Given the description of an element on the screen output the (x, y) to click on. 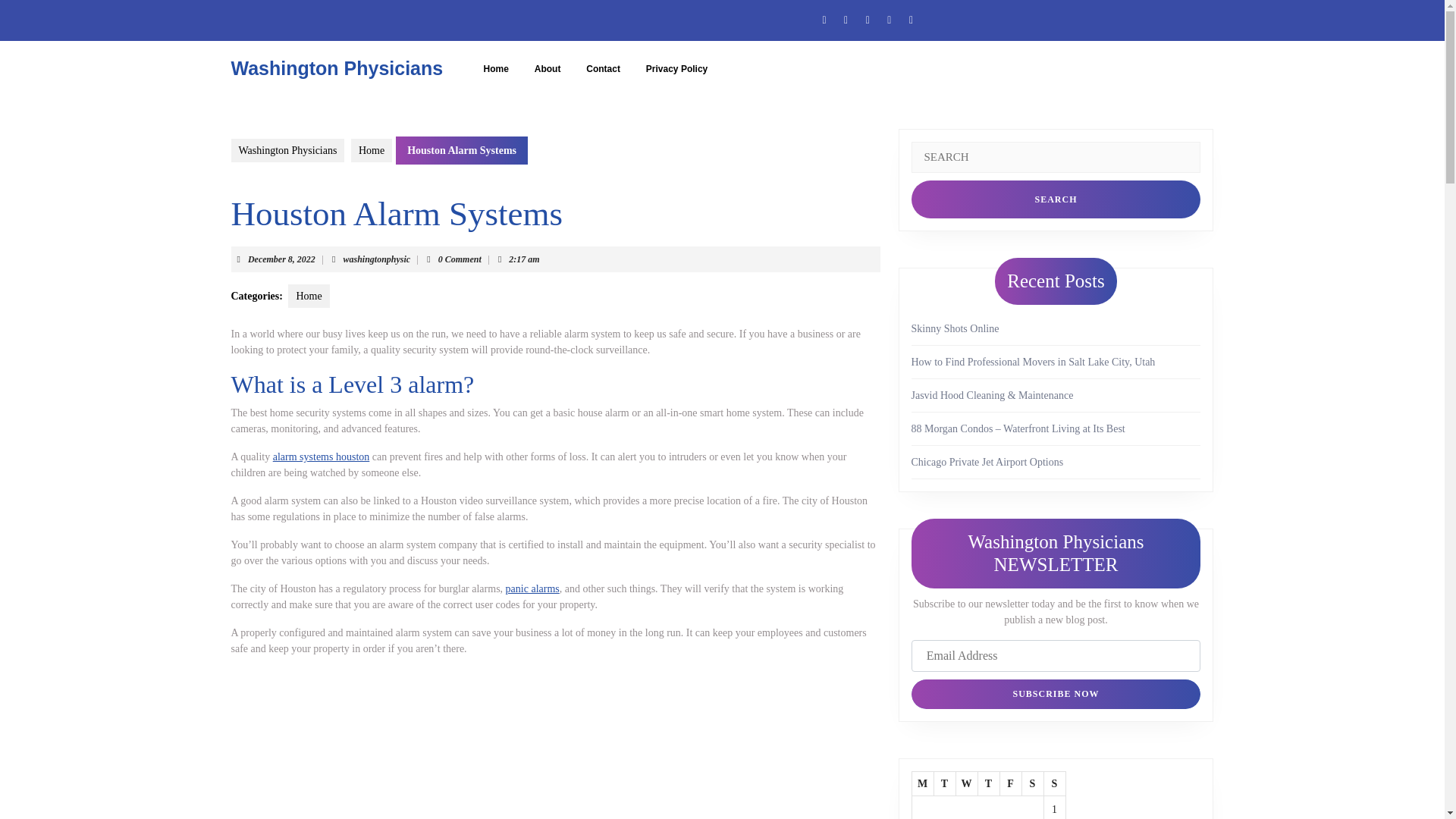
Thursday (987, 783)
Home (370, 150)
How to Find Professional Movers in Salt Lake City, Utah (1033, 361)
Friday (1010, 783)
Sunday (1054, 783)
Contact (603, 69)
alarm systems houston (321, 456)
Skinny Shots Online (954, 328)
panic alarms (376, 258)
